Given the description of an element on the screen output the (x, y) to click on. 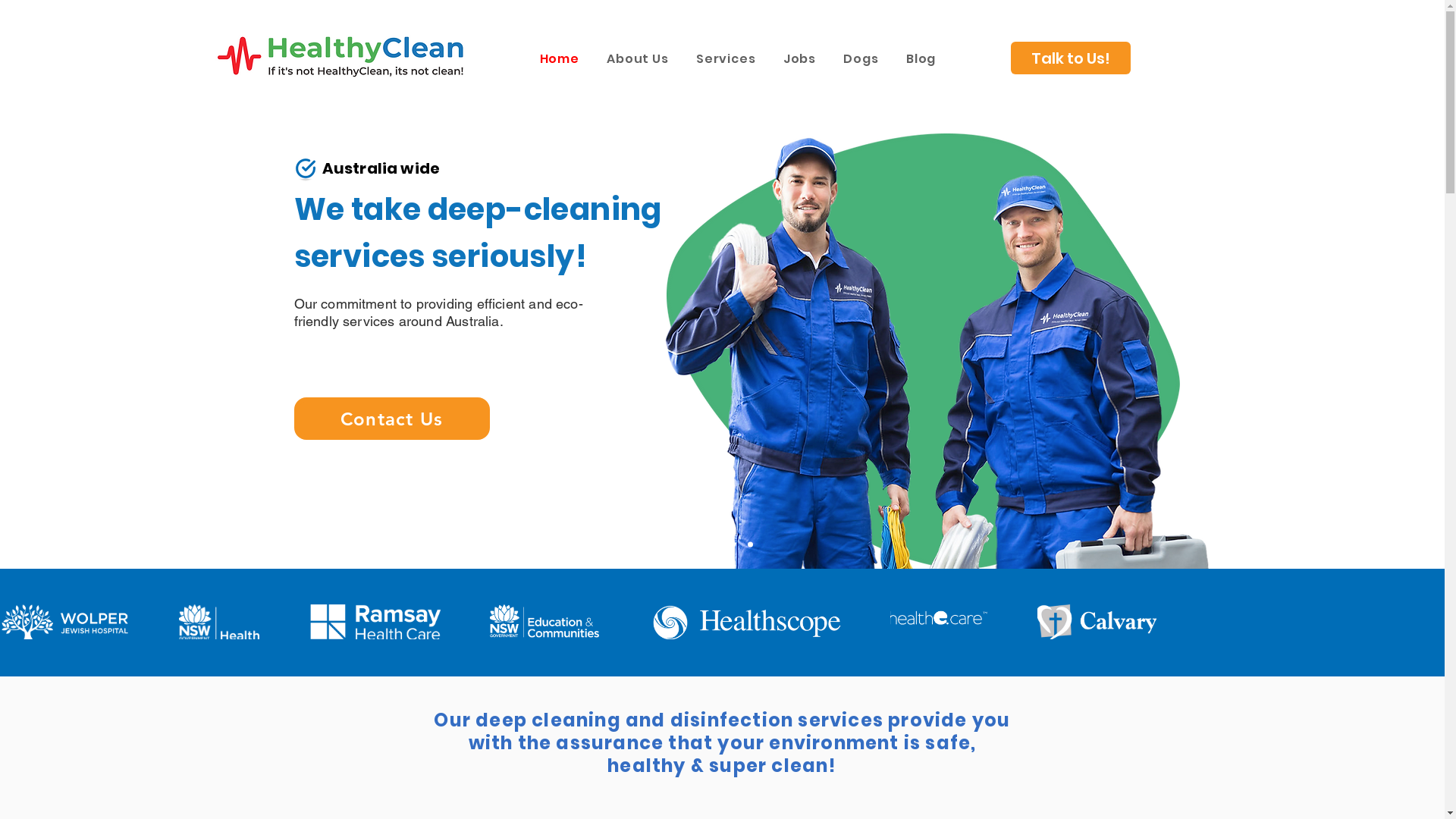
About Us Element type: text (637, 58)
Contact Us Element type: text (391, 418)
Home Element type: text (559, 58)
Services Element type: text (725, 58)
Dogs Element type: text (860, 58)
Talk to Us! Element type: text (1069, 57)
HealthyClean Cleaning Staff Element type: hover (937, 350)
Blog Element type: text (921, 58)
Jobs Element type: text (799, 58)
